Given the description of an element on the screen output the (x, y) to click on. 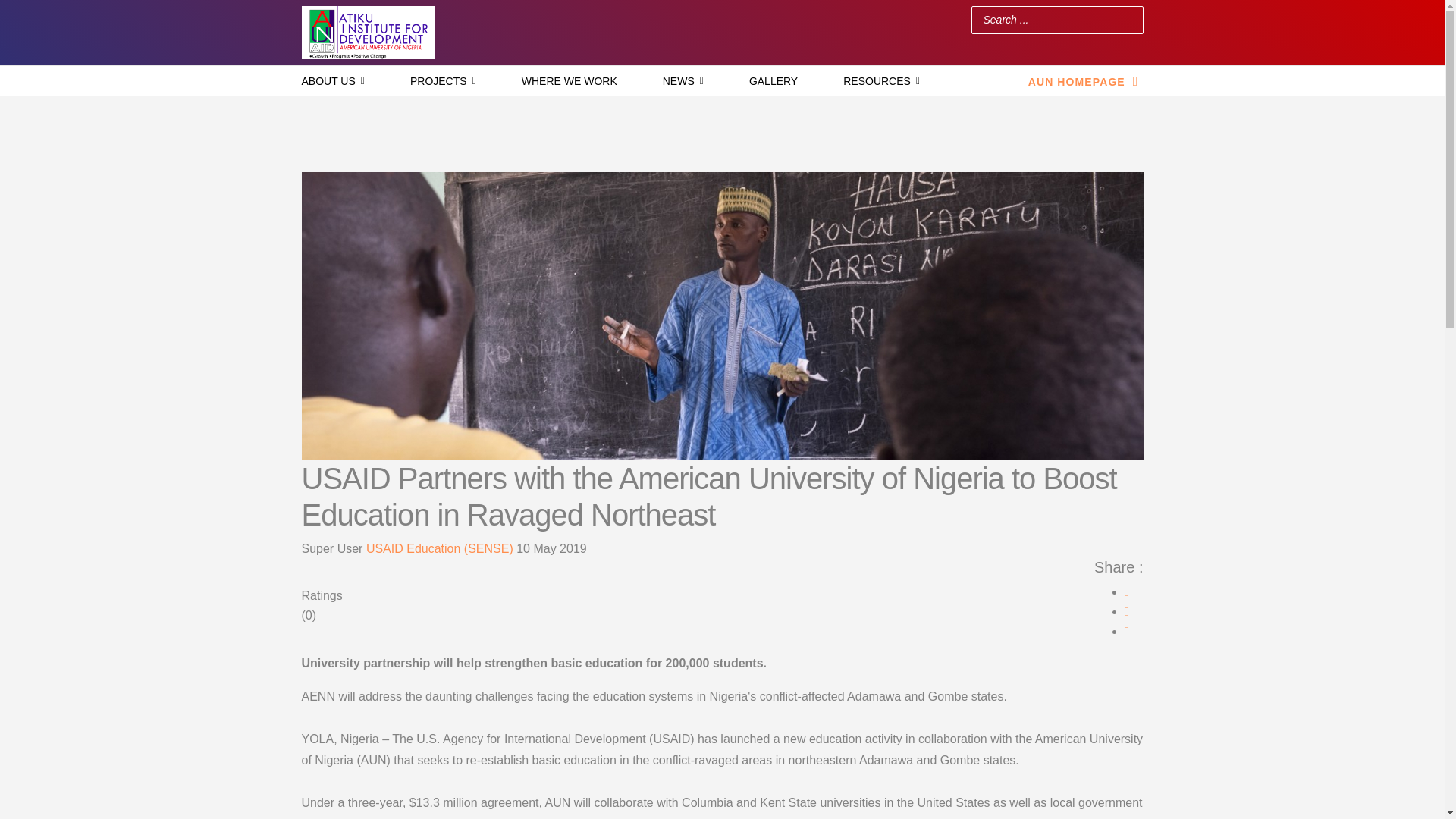
PROJECTS (442, 81)
RESOURCES (881, 81)
NEWS (682, 81)
AUN HOMEPAGE (1084, 80)
WHERE WE WORK (569, 81)
Published: 10 May 2019 (551, 548)
GALLERY (773, 81)
Written by Super User (333, 548)
ABOUT US (332, 81)
